Given the description of an element on the screen output the (x, y) to click on. 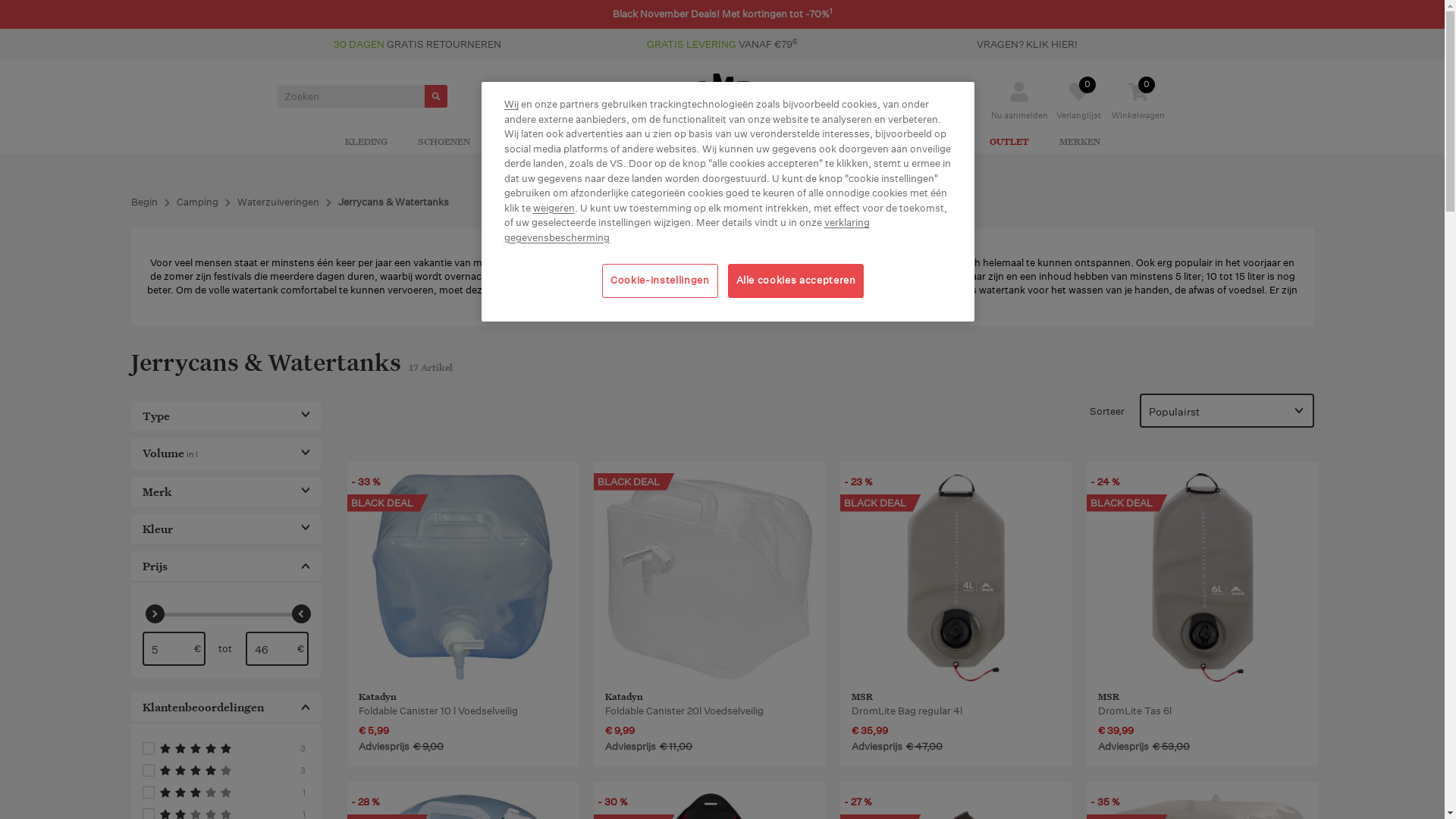
KLIMMEN Element type: text (686, 142)
CAMPZ Outdoor und Camping Online Shop Element type: hover (722, 96)
UITRUSTING Element type: text (530, 142)
CAMPING Element type: text (611, 142)
Filtert naar 4 Element type: hover (225, 770)
MSR DromLite Tas Regular  Element type: hover (954, 577)
SCHOENEN Element type: text (442, 142)
Verlanglijst
0 Element type: text (1077, 110)
MSR DromLite Tas 6l Element type: text (1202, 614)
MSR DromLite Tas 6l  Element type: hover (1202, 577)
Katadyn Foldable Canister 10 l Voedselveilig Element type: text (461, 614)
JOGGING Element type: text (759, 142)
MERKEN Element type: text (1078, 142)
KINDEREN Element type: text (934, 142)
verklaring gegevensbescherming Element type: text (686, 230)
MSR DromLite Tas Regular Element type: text (954, 614)
ACTIVITEITEN Element type: text (845, 142)
0
Winkelwagen Element type: text (1137, 110)
Katadyn Foldable Canister 20l Voedselveilig Element type: text (709, 614)
Waterzuiveringen Element type: text (277, 201)
Filtert naar 5 Element type: hover (225, 748)
Cookie-instellingen Element type: text (659, 280)
Jerrycans & Watertanks Element type: text (393, 201)
Katadyn Foldable Canister 10 l Voedselveilig  Element type: hover (461, 577)
Begin Element type: text (143, 202)
OUTLET Element type: text (1008, 142)
Katadyn Foldable Canister 20l Voedselveilig  Element type: hover (709, 577)
KLEDING Element type: text (365, 142)
Camping Element type: text (196, 201)
Filtert naar 3 Element type: hover (225, 792)
Alle cookies accepteren Element type: text (796, 280)
weigeren Element type: text (553, 207)
Wij Element type: text (510, 103)
